Given the description of an element on the screen output the (x, y) to click on. 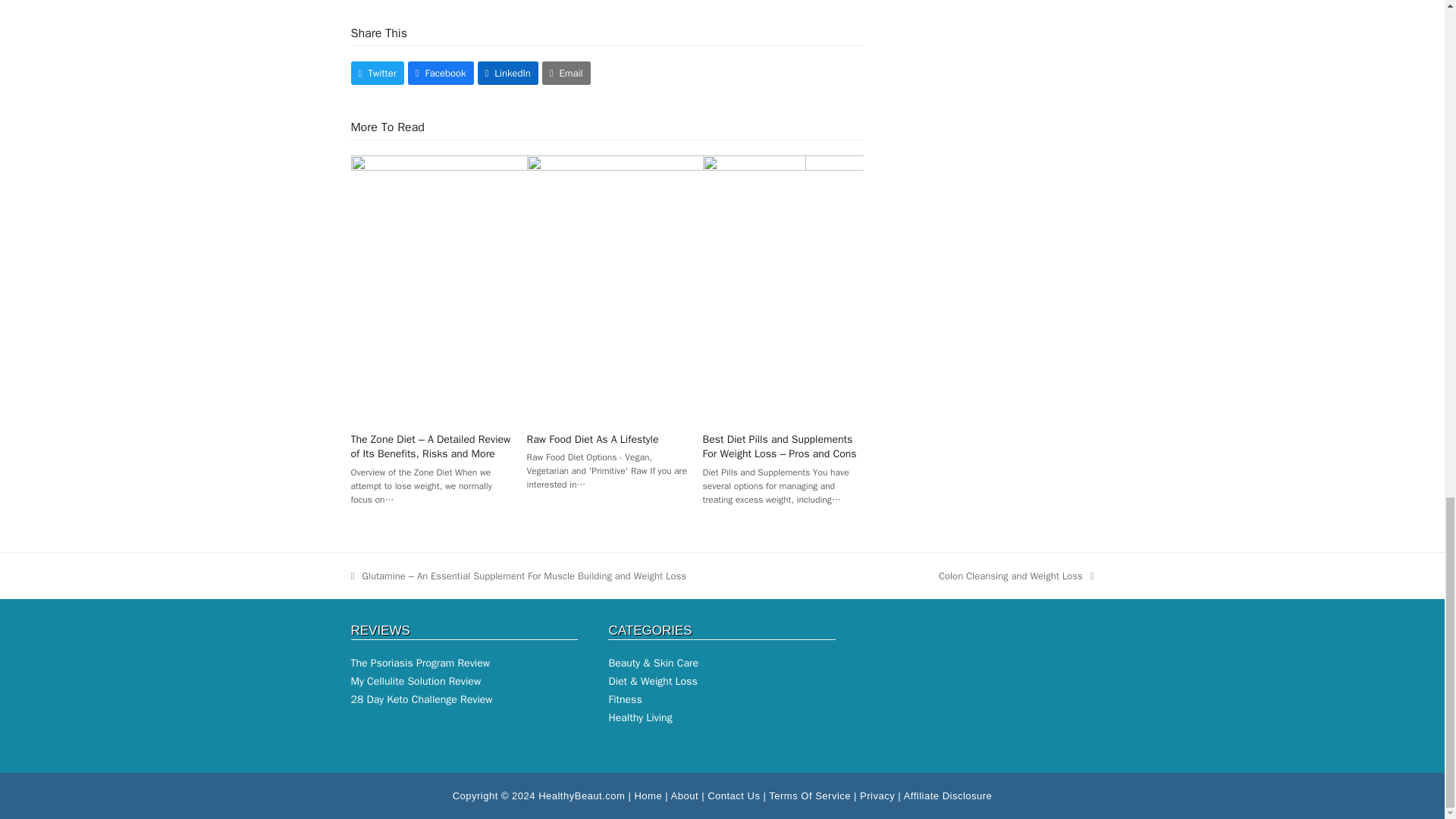
Raw Food Diet As A Lifestyle (593, 439)
Facebook (440, 73)
Twitter (376, 73)
Email (566, 73)
LinkedIn (507, 73)
Raw Food Diet As A Lifestyle (754, 287)
